Given the description of an element on the screen output the (x, y) to click on. 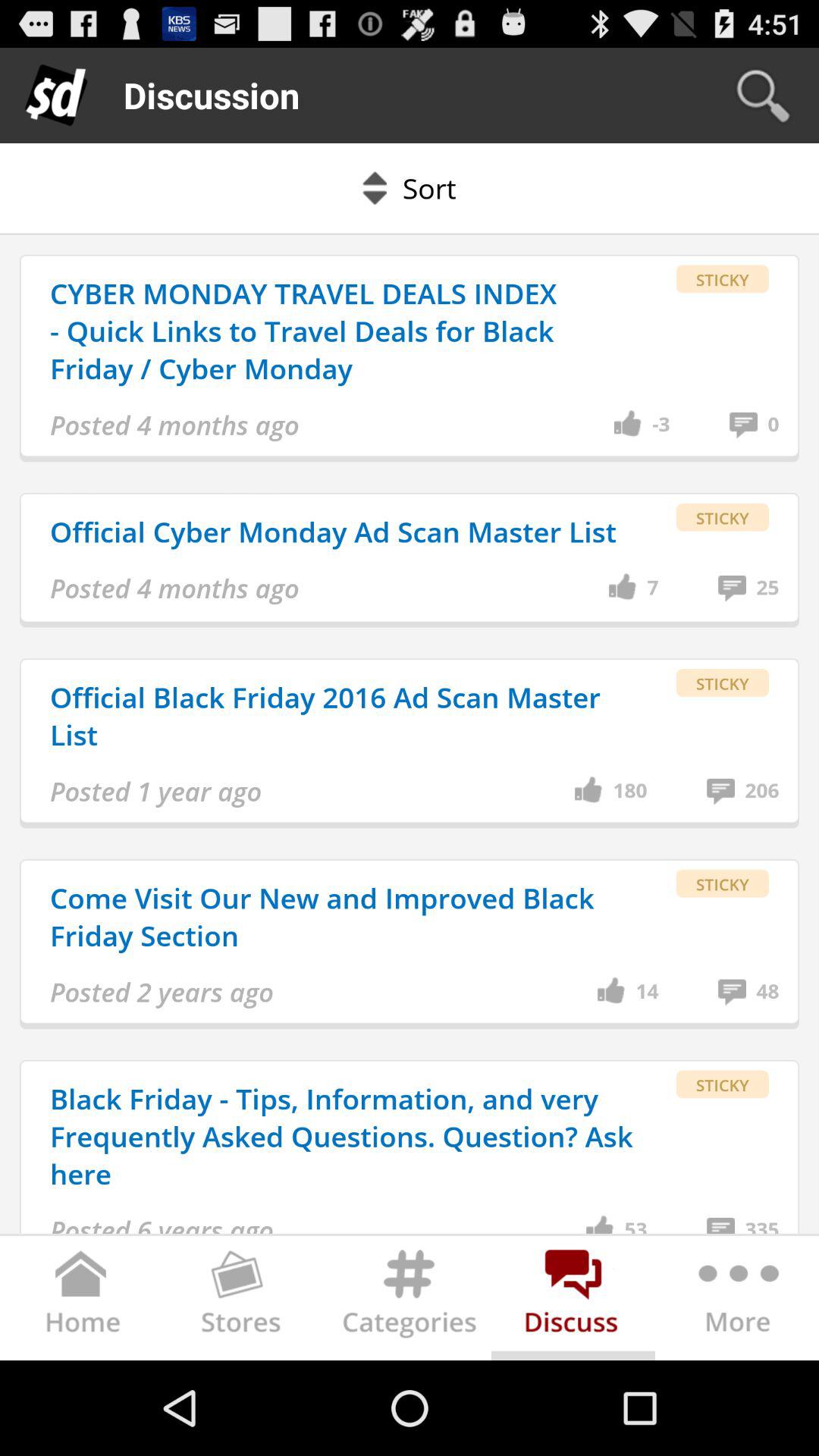
stores button (245, 1301)
